Given the description of an element on the screen output the (x, y) to click on. 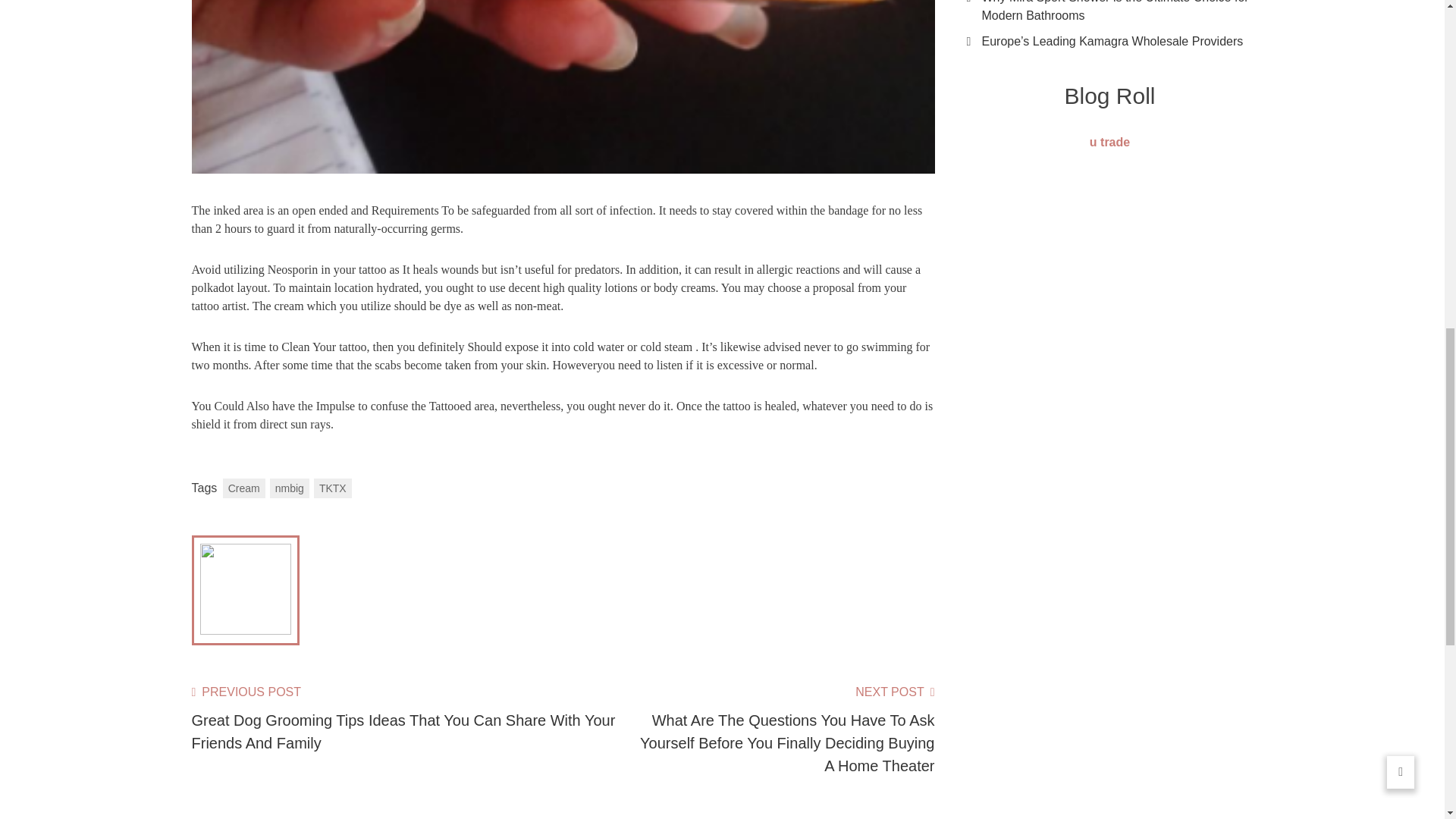
nmbig (288, 487)
TKTX (333, 487)
Cream (243, 487)
